Given the description of an element on the screen output the (x, y) to click on. 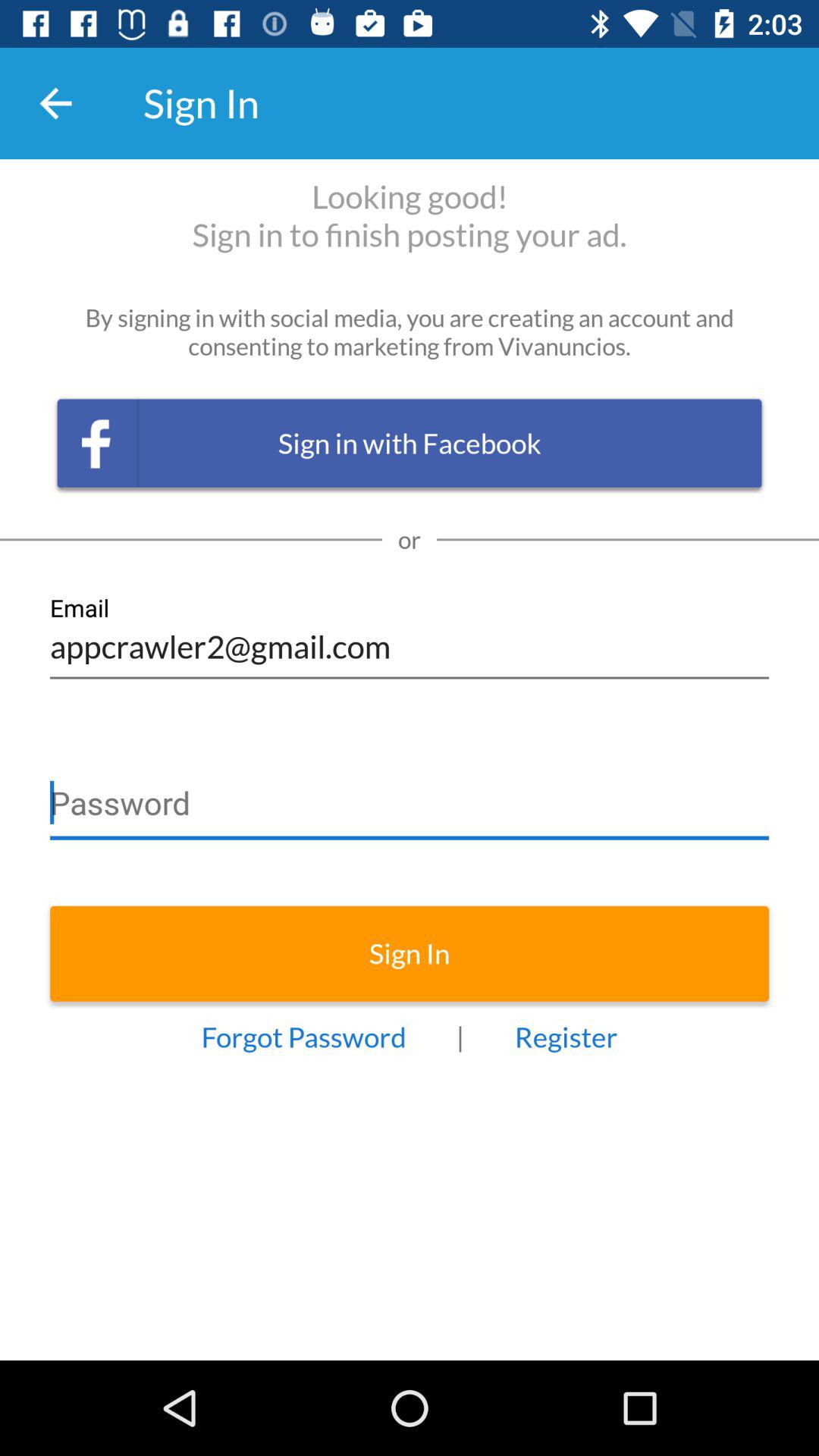
open appcrawler2@gmail.com icon (409, 636)
